Given the description of an element on the screen output the (x, y) to click on. 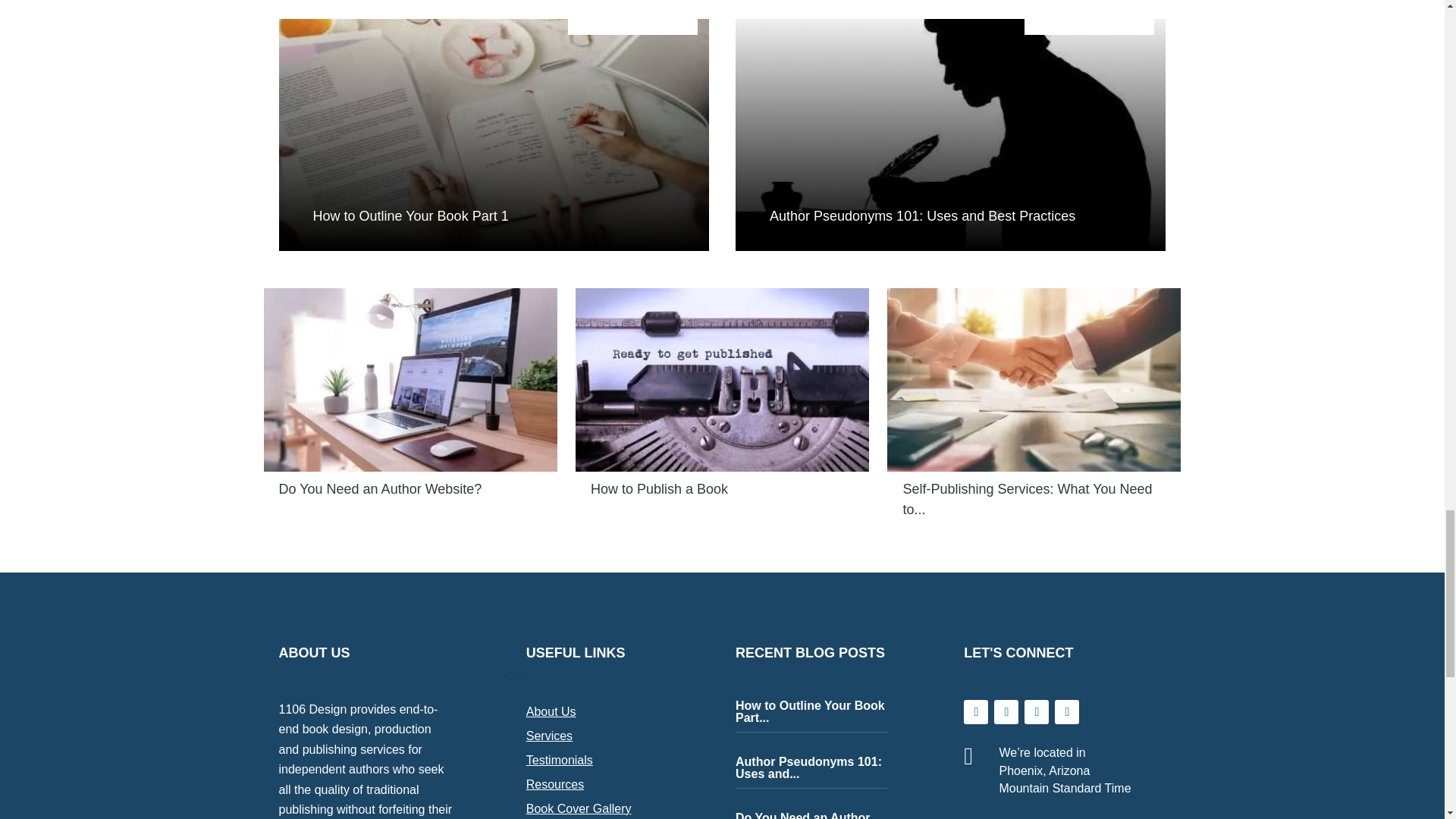
Follow on X (1005, 711)
Follow on LinkedIn (1066, 711)
Follow on Pinterest (1036, 711)
Follow on Facebook (975, 711)
